Given the description of an element on the screen output the (x, y) to click on. 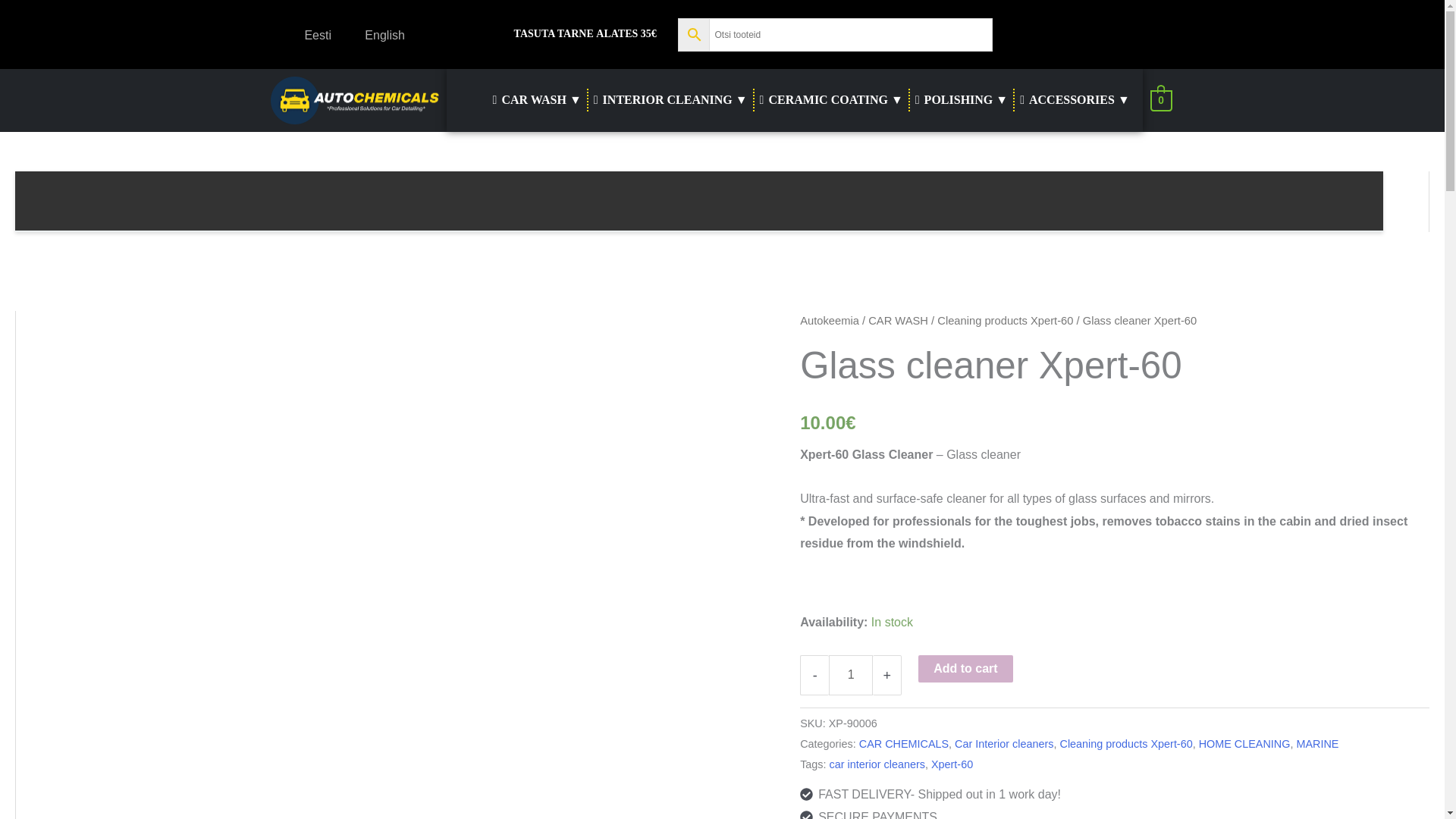
1 (850, 675)
English (375, 35)
Eesti (308, 35)
View your shopping cart (1161, 99)
